Given the description of an element on the screen output the (x, y) to click on. 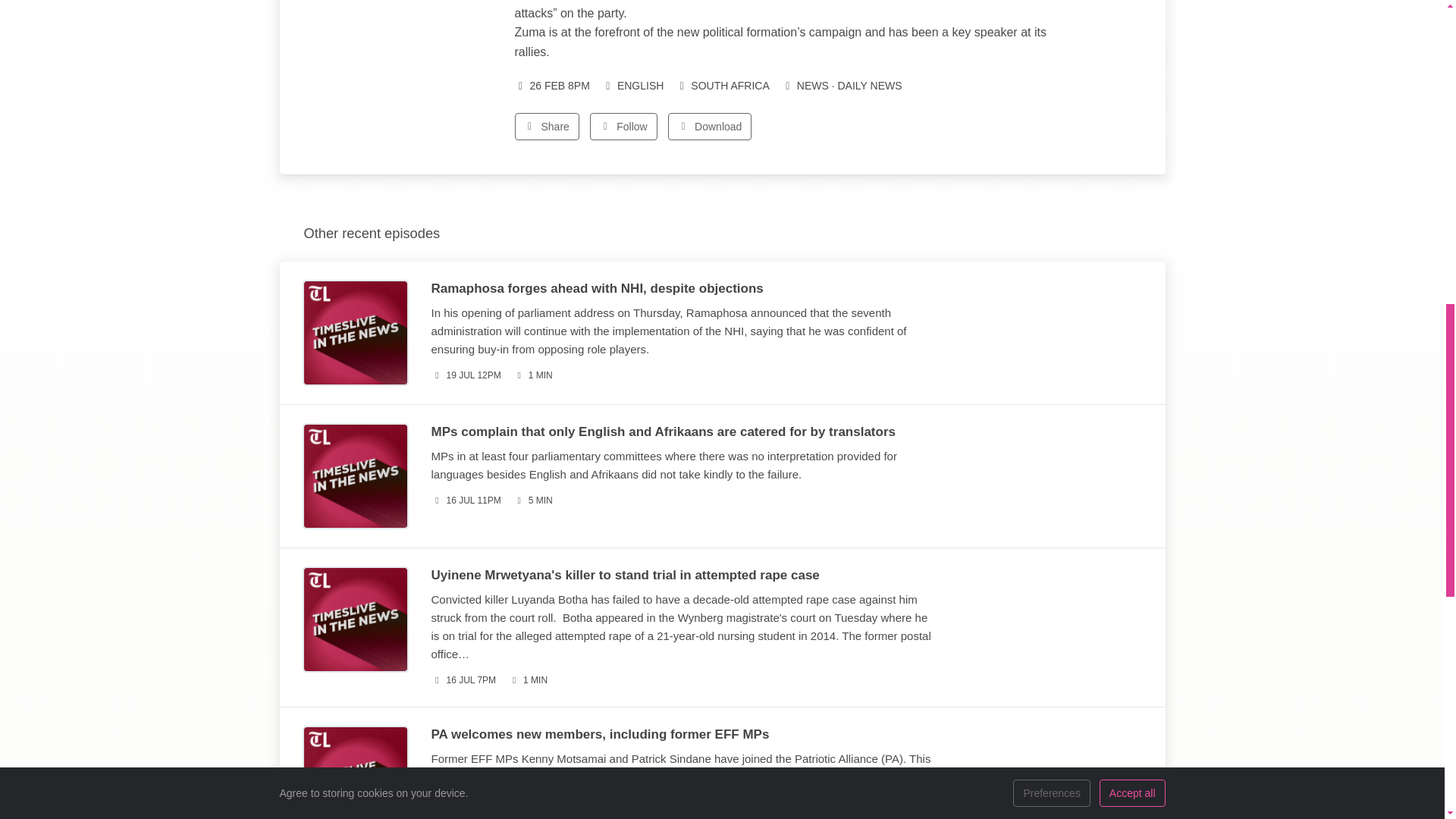
Language (632, 85)
Duration (533, 500)
Categories (841, 85)
Published (465, 500)
Published (463, 680)
Duration (533, 816)
Publish date (551, 85)
Published (465, 375)
Duration (527, 680)
Country (721, 85)
Published (465, 816)
Duration (533, 375)
